Given the description of an element on the screen output the (x, y) to click on. 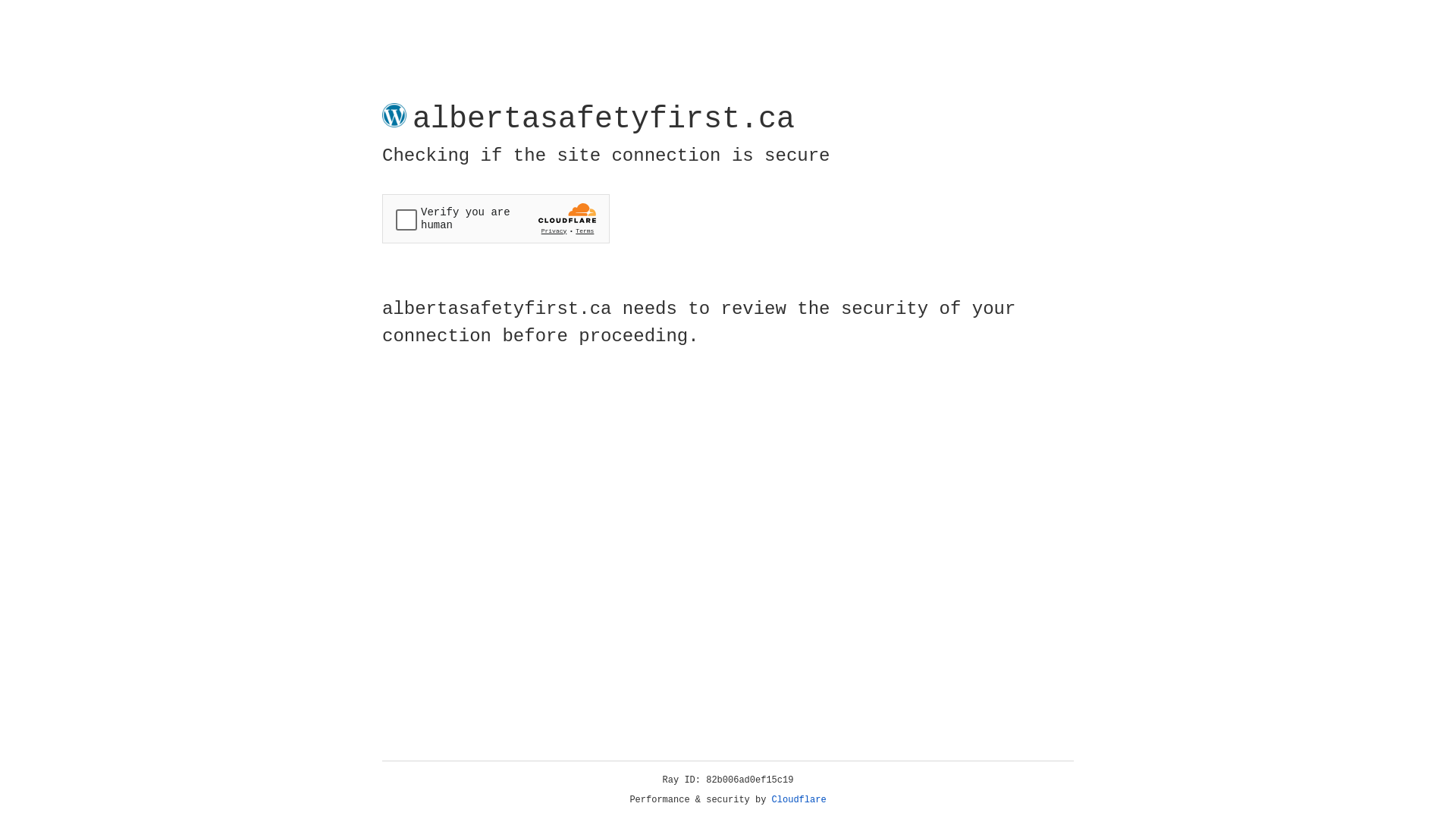
Cloudflare Element type: text (798, 799)
Widget containing a Cloudflare security challenge Element type: hover (495, 218)
